Given the description of an element on the screen output the (x, y) to click on. 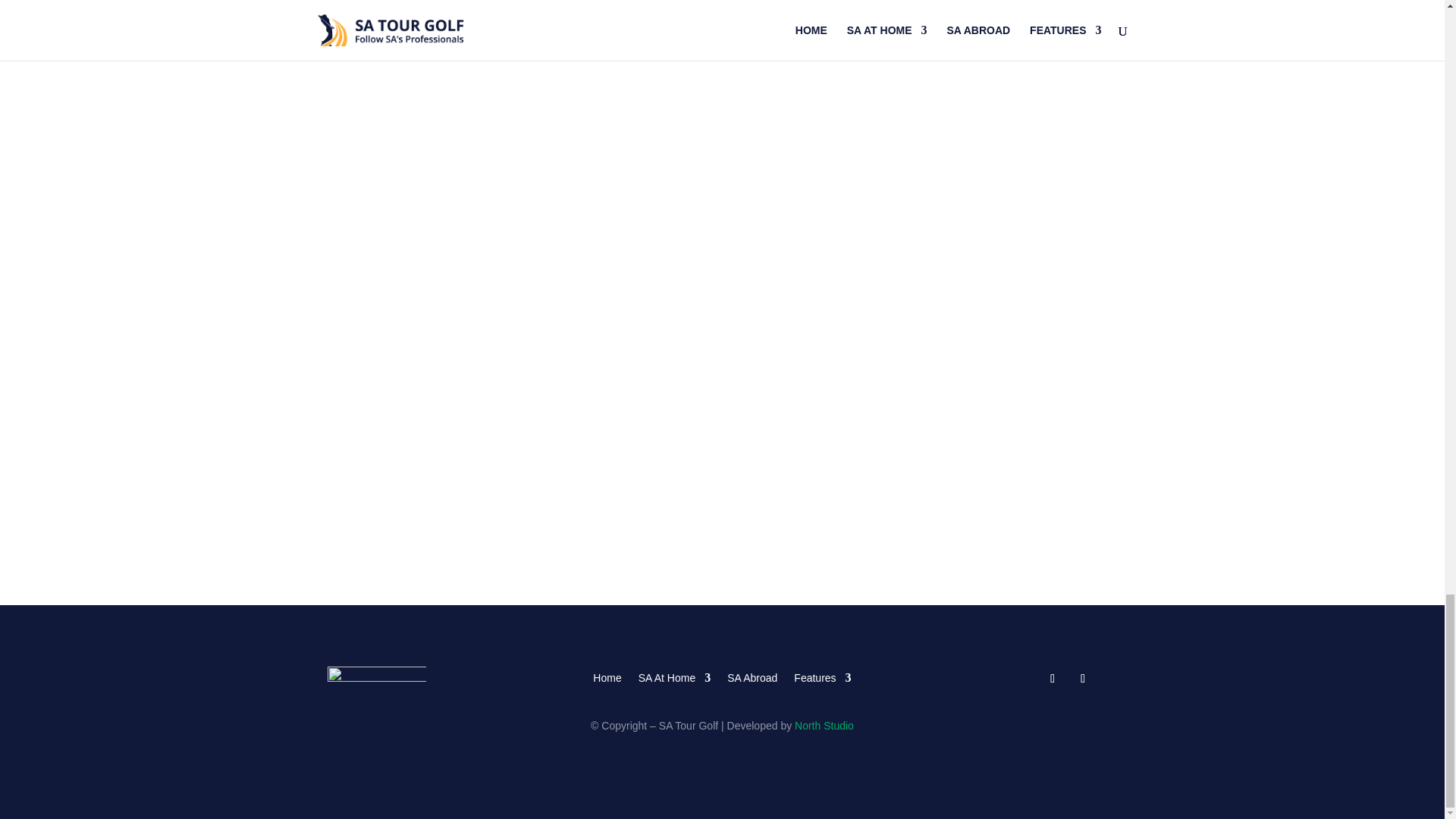
Home (606, 674)
Follow on Facebook (1052, 678)
SA-Tour-Golf-Logo-Image6 (376, 680)
SA At Home (674, 674)
Follow on X (1082, 678)
